Given the description of an element on the screen output the (x, y) to click on. 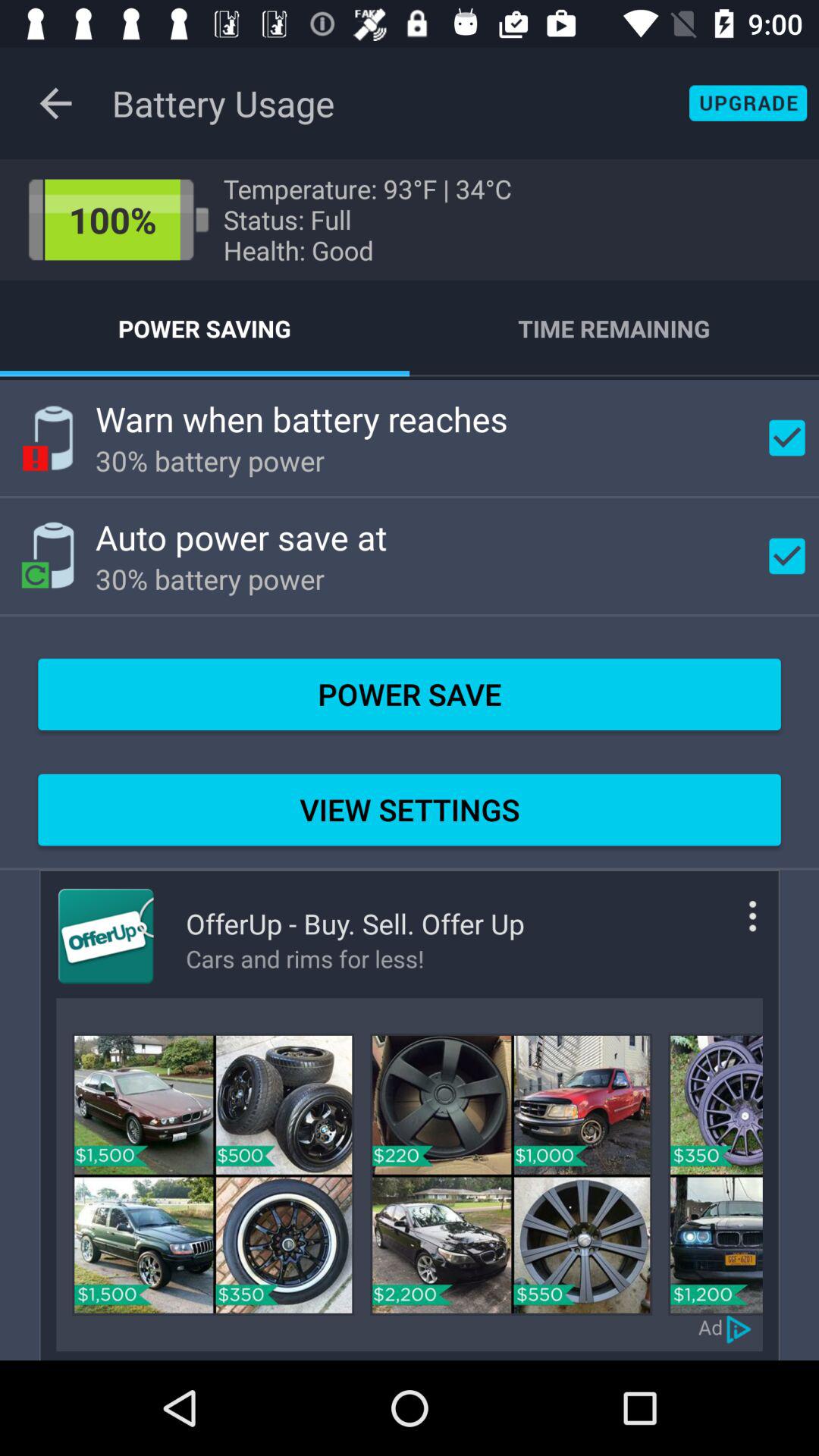
scroll to offerup buy sell item (354, 923)
